Given the description of an element on the screen output the (x, y) to click on. 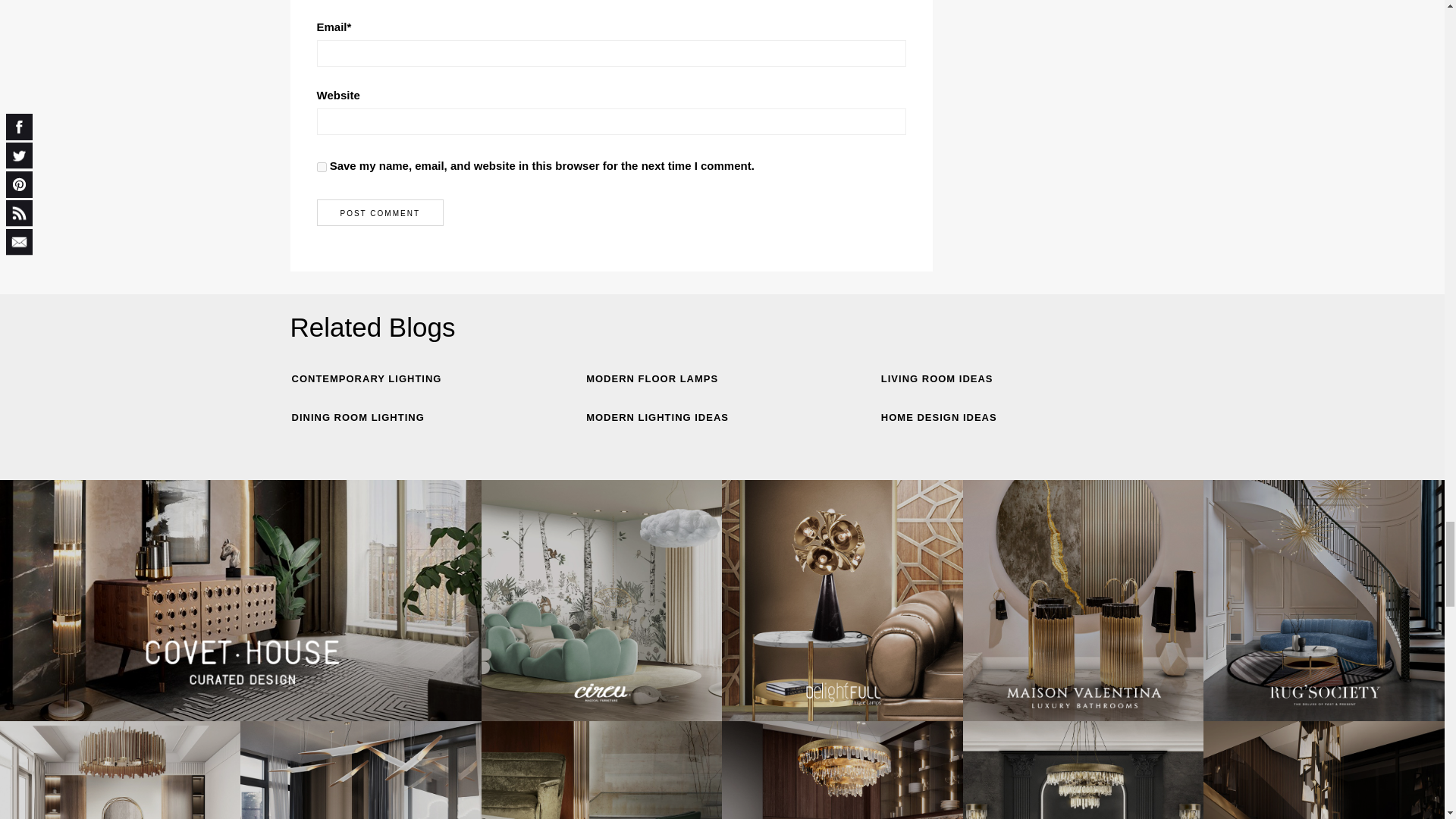
Post comment (380, 212)
